Given the description of an element on the screen output the (x, y) to click on. 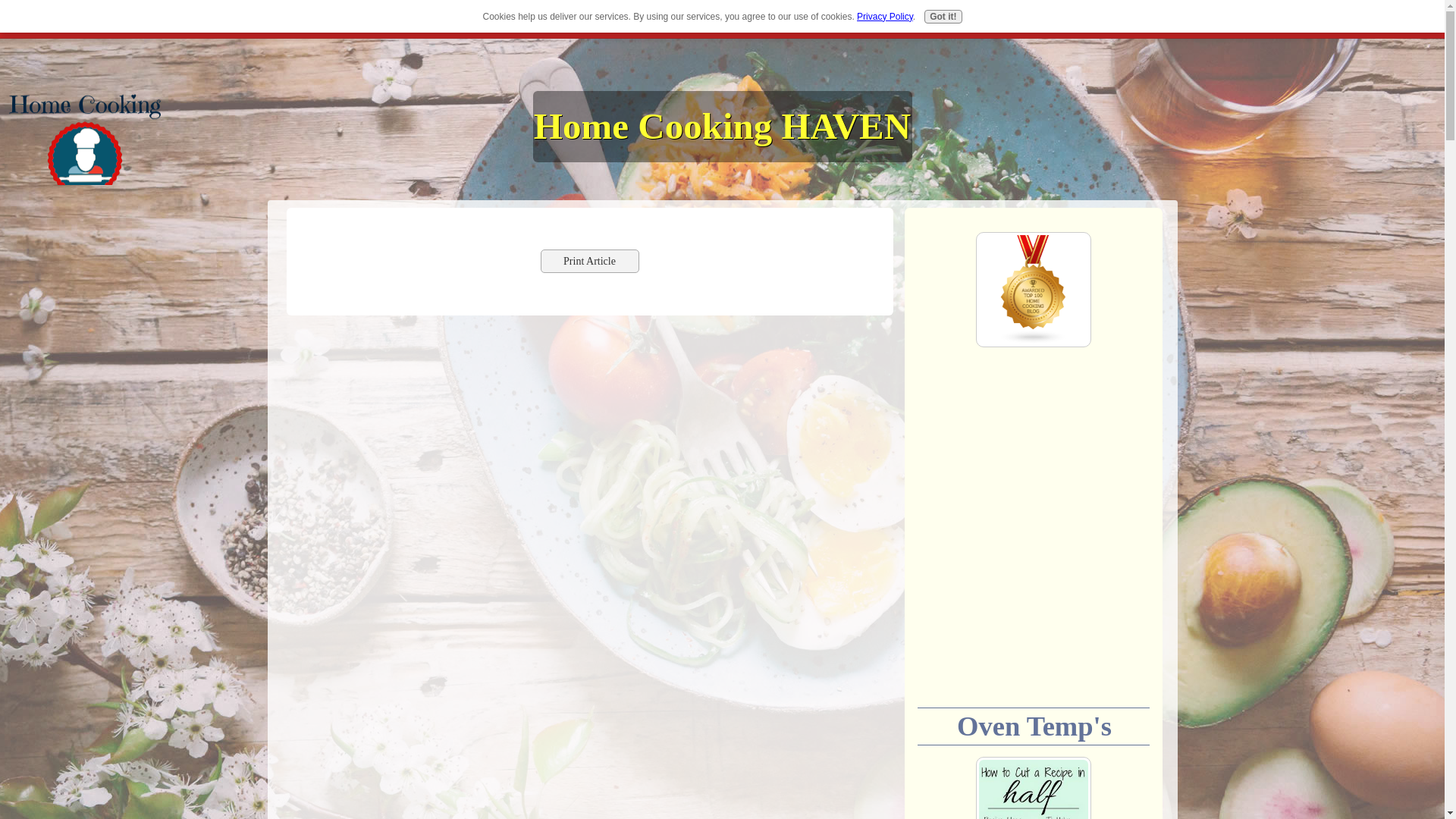
SITE MAP (288, 18)
Home Cooking HAVEN (722, 126)
HOME (233, 18)
Advertisement (1033, 534)
